Given the description of an element on the screen output the (x, y) to click on. 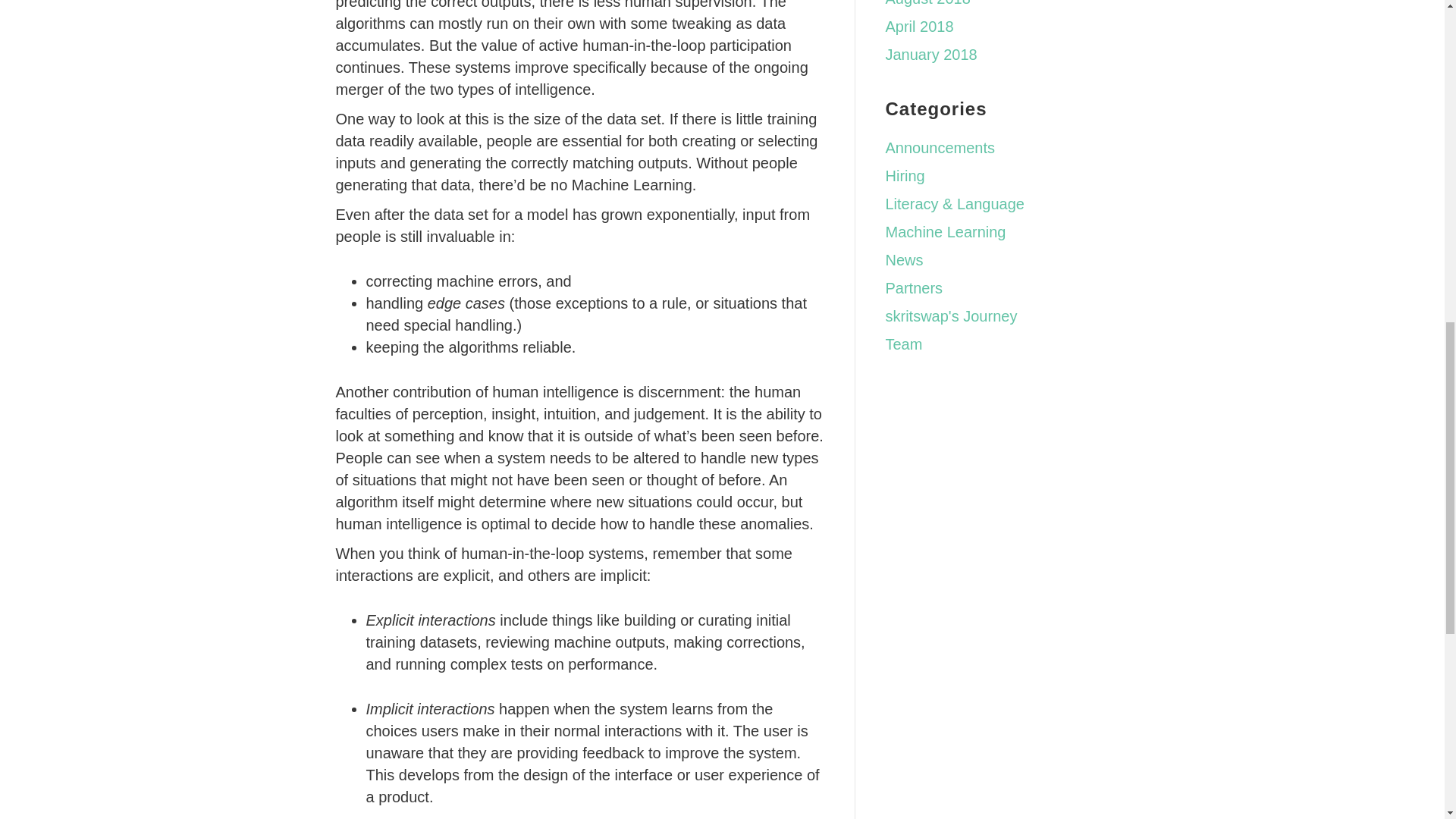
skritswap's Journey (951, 315)
Partners (914, 288)
News (904, 259)
August 2018 (928, 3)
Team (904, 343)
April 2018 (919, 26)
Machine Learning (945, 231)
January 2018 (930, 54)
Announcements (940, 147)
Hiring (904, 175)
